Given the description of an element on the screen output the (x, y) to click on. 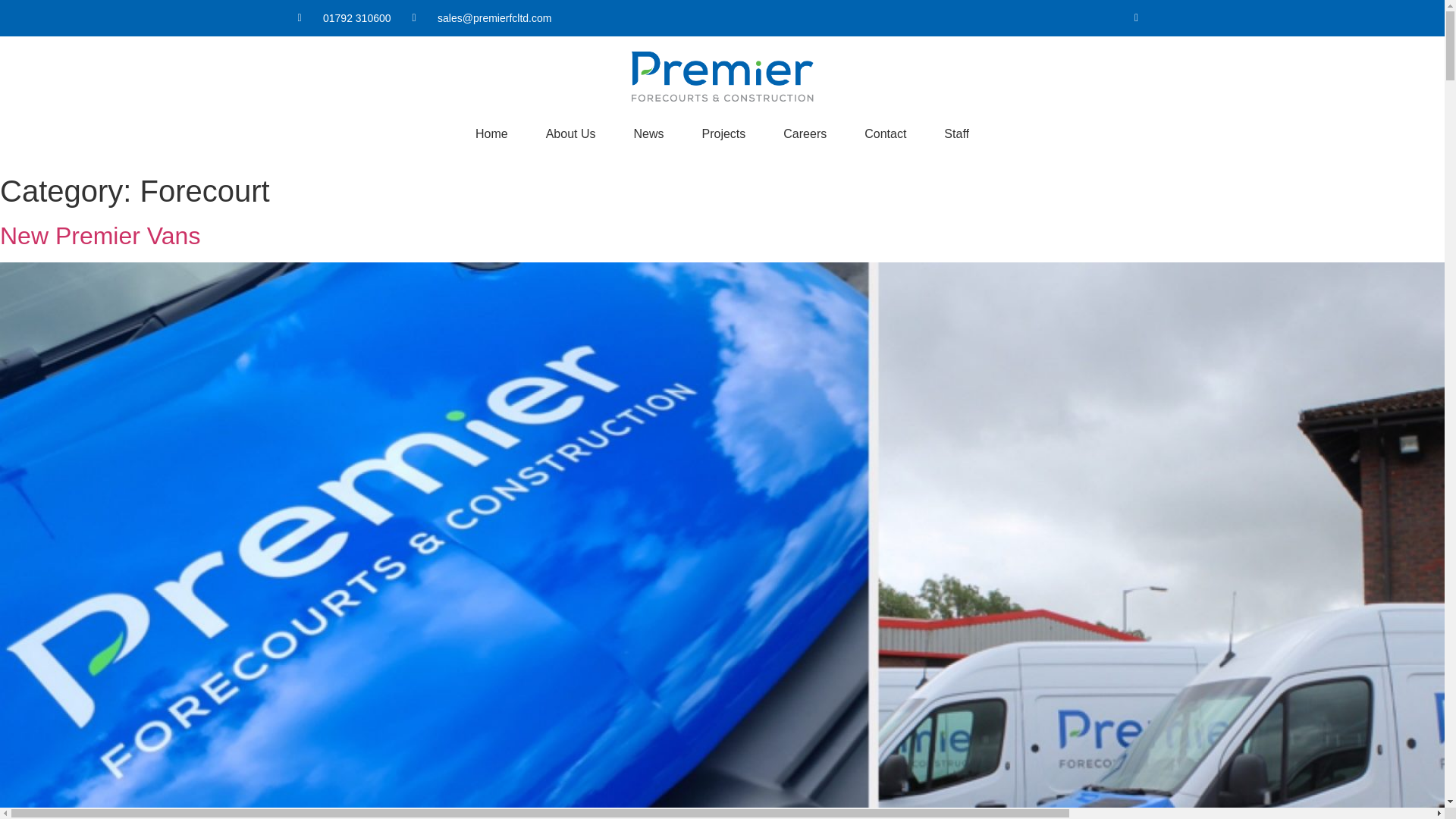
Projects (723, 134)
Home (492, 134)
News (648, 134)
About Us (570, 134)
Contact (884, 134)
New Premier Vans (100, 235)
Careers (804, 134)
Staff (956, 134)
01792 310600 (343, 18)
